Given the description of an element on the screen output the (x, y) to click on. 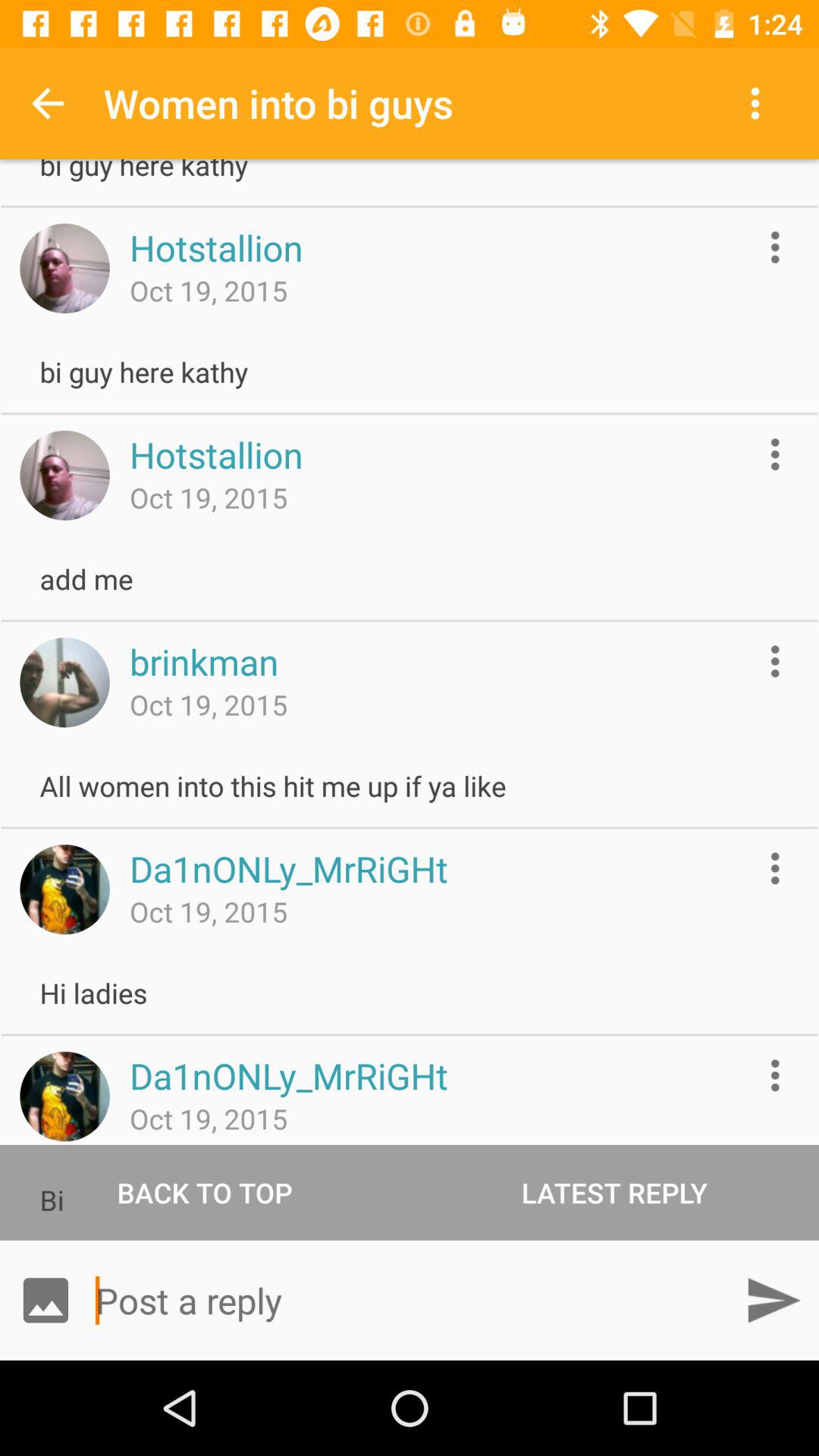
send message (773, 1300)
